Given the description of an element on the screen output the (x, y) to click on. 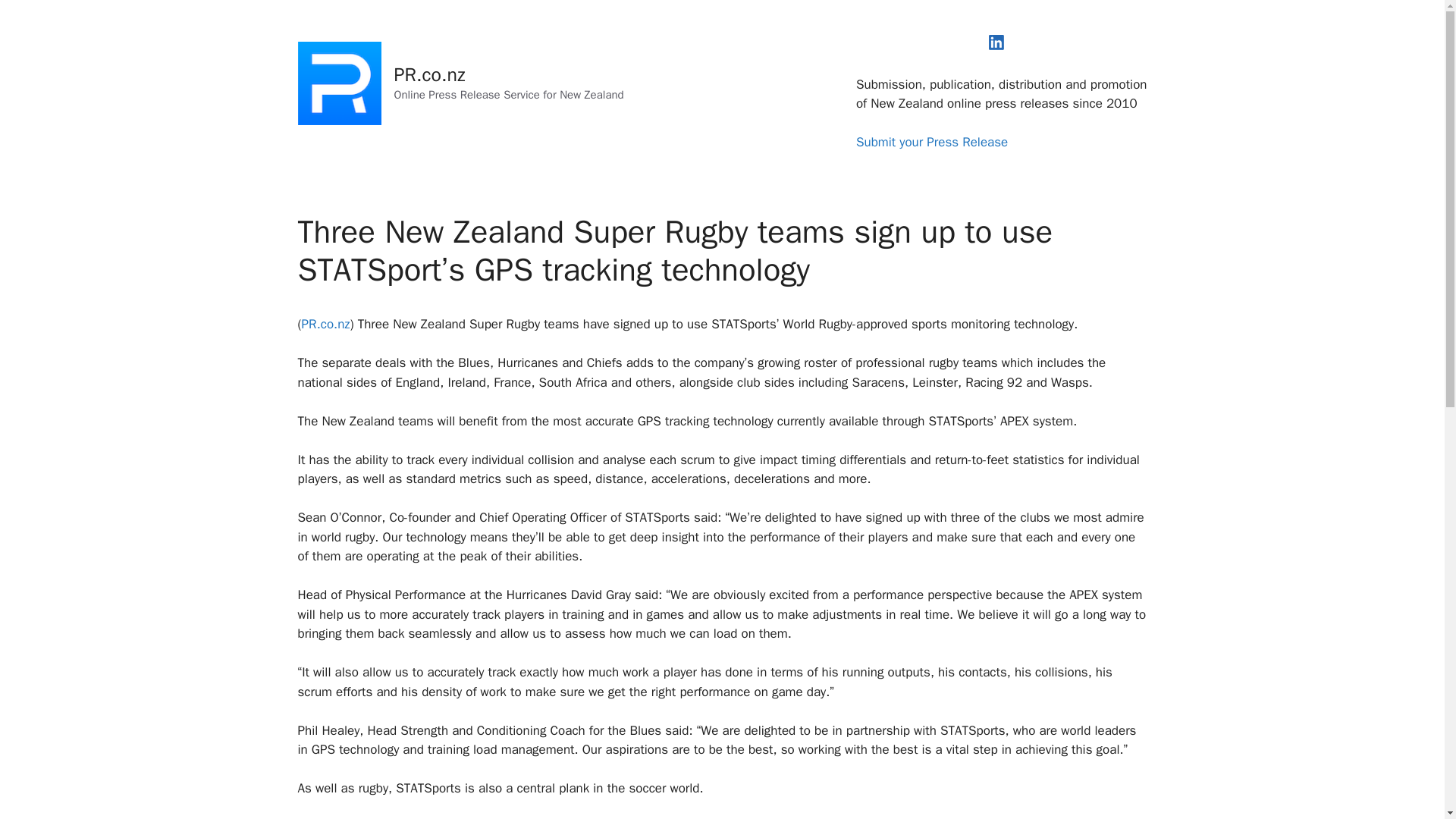
PR.co.nz (325, 324)
PR.co.nz (429, 74)
LinkedIn (996, 42)
Submit your Press Release (931, 141)
